Given the description of an element on the screen output the (x, y) to click on. 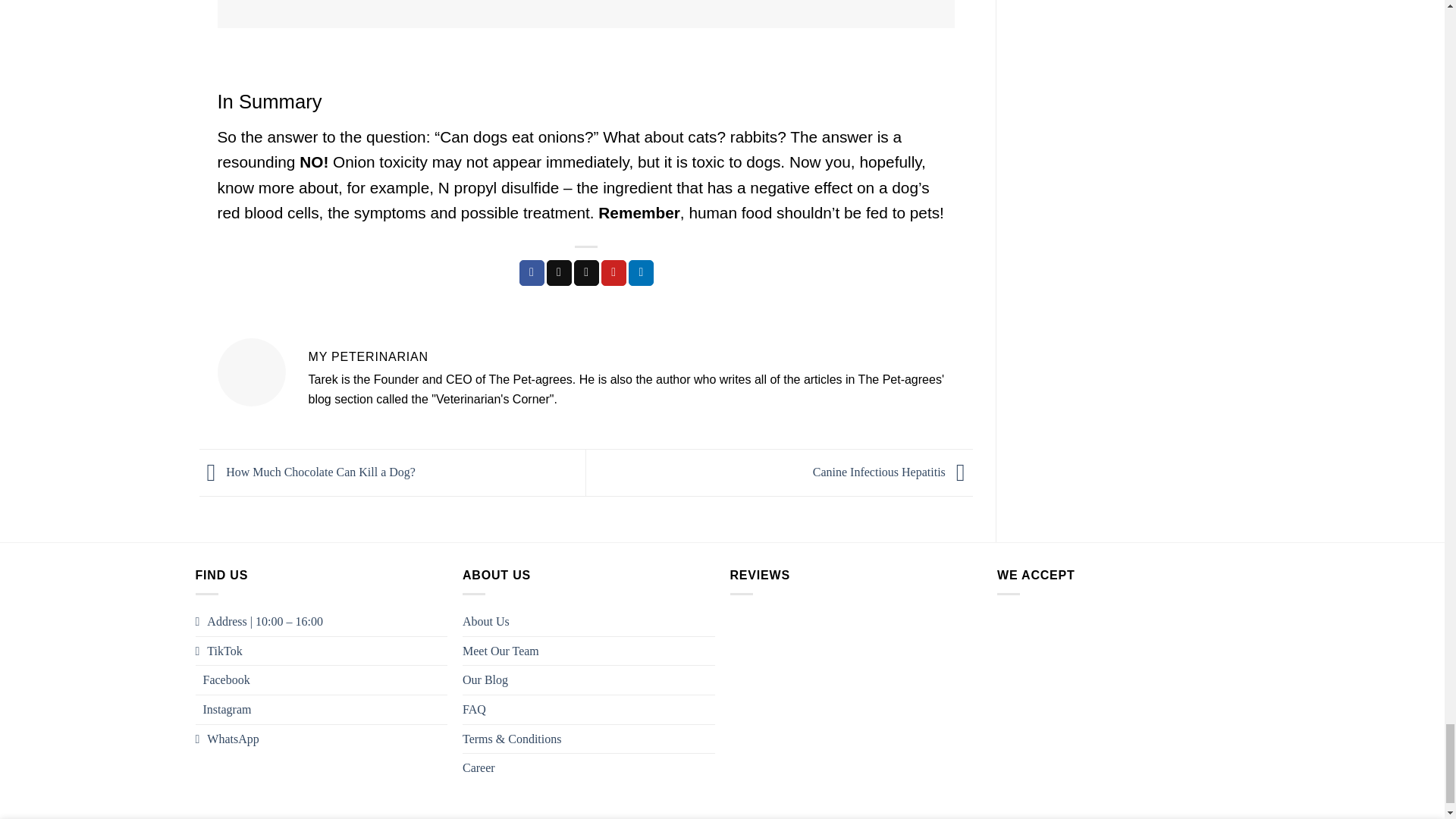
Pin on Pinterest (613, 272)
Share on LinkedIn (640, 272)
Share on X (559, 272)
Email to a Friend (585, 272)
Share on Facebook (531, 272)
